Given the description of an element on the screen output the (x, y) to click on. 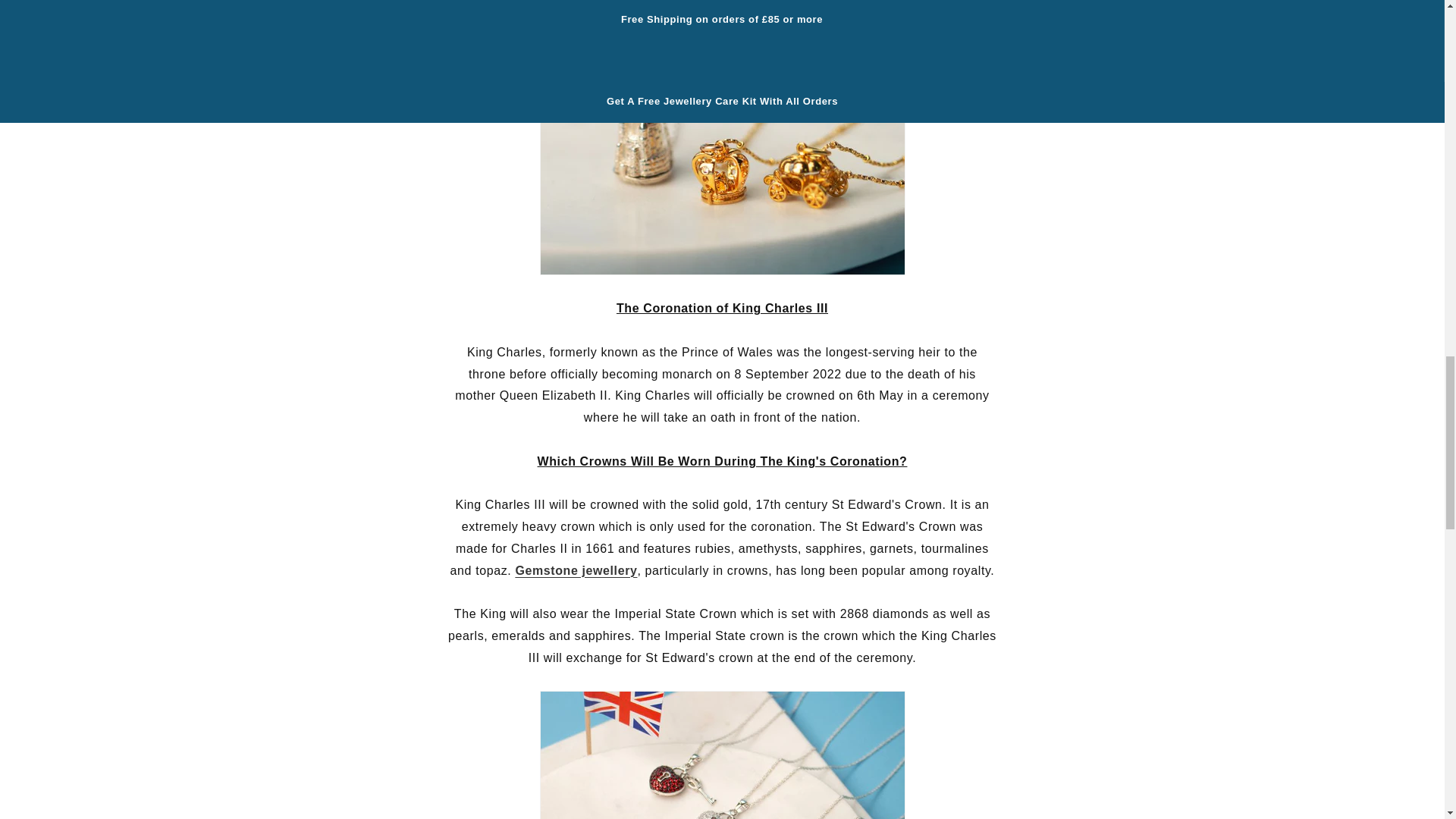
silver and gold royal charms (722, 153)
red, white and blue royal charms (722, 755)
